Given the description of an element on the screen output the (x, y) to click on. 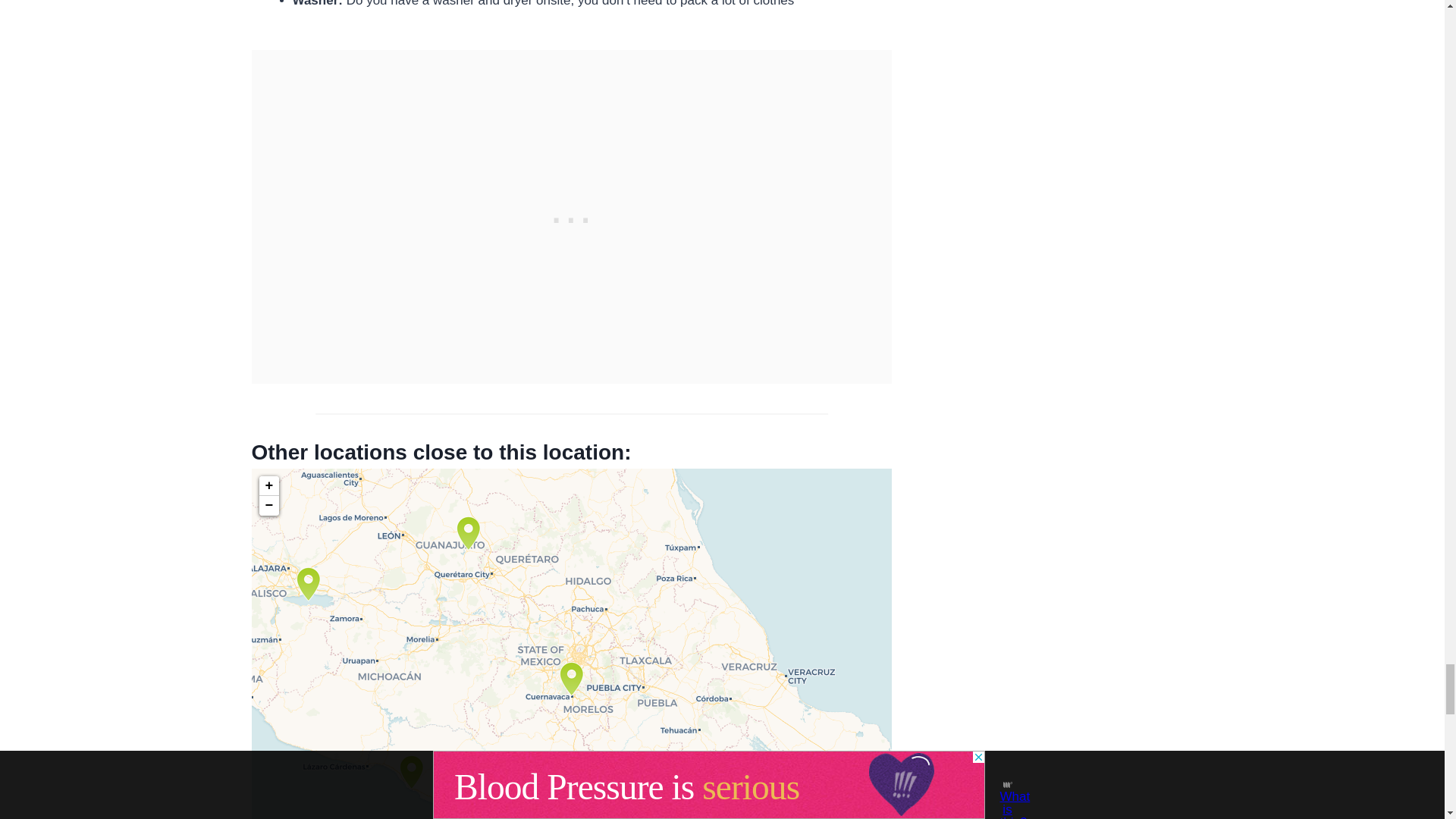
Zoom in (269, 485)
Zoom out (269, 505)
